Given the description of an element on the screen output the (x, y) to click on. 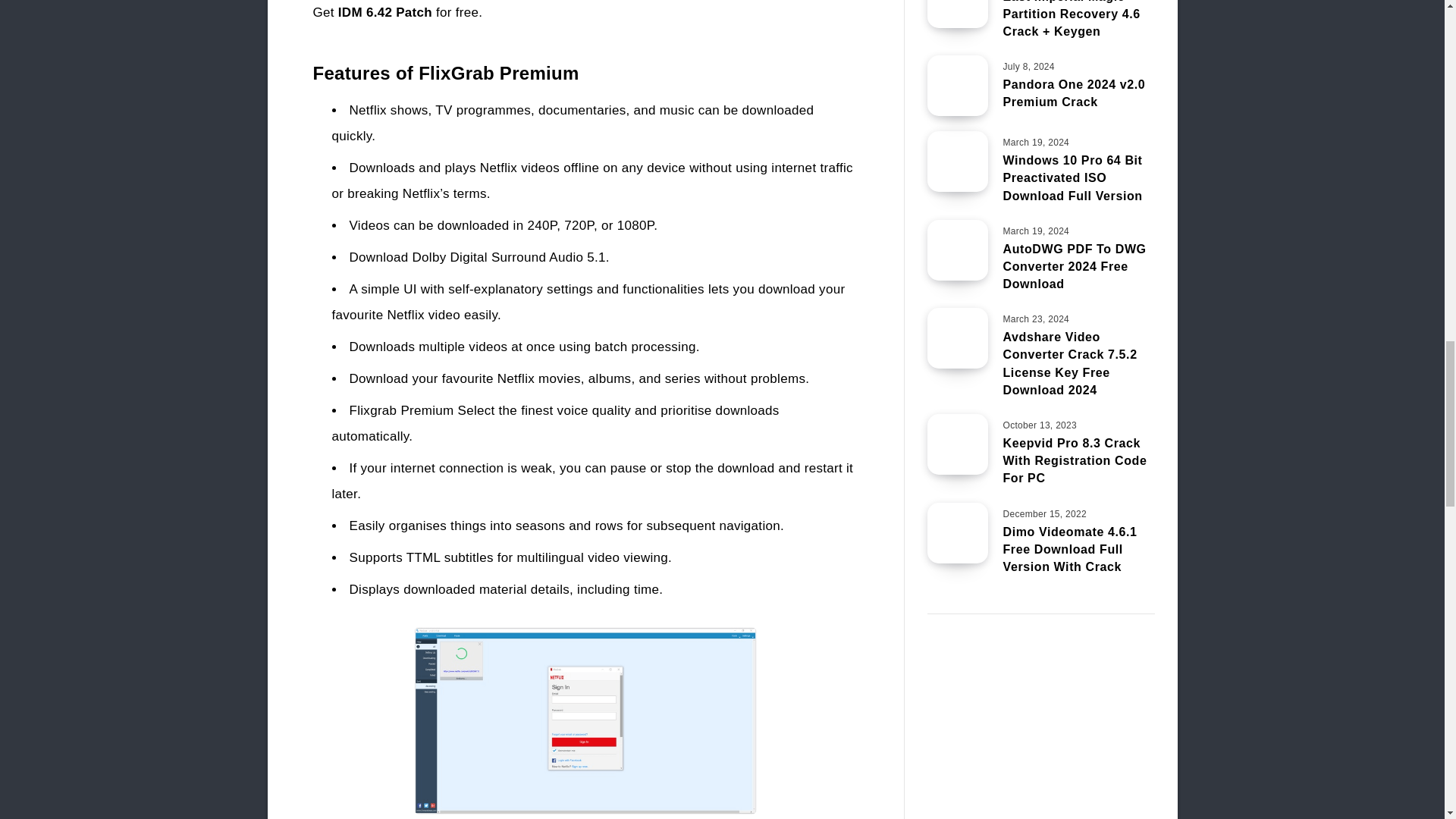
IDM 6.42 Patch (384, 11)
FlixGrab Premium 2024 Activation Key Download (585, 720)
